Given the description of an element on the screen output the (x, y) to click on. 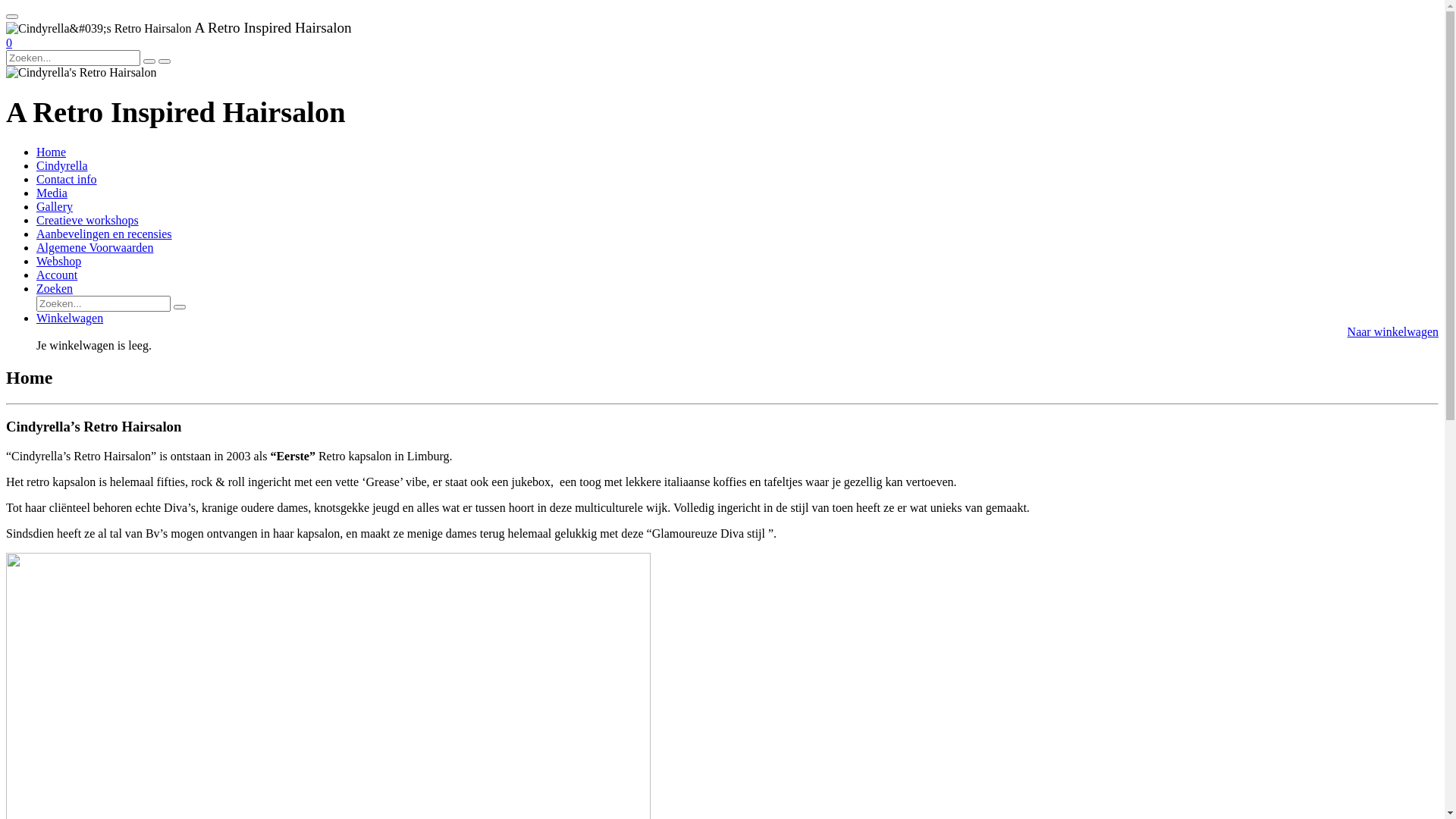
Webshop Element type: text (58, 260)
Cindyrella&#039;s Retro Hairsalon Element type: hover (98, 28)
Contact info Element type: text (66, 178)
Winkelwagen Element type: text (69, 317)
Creatieve workshops Element type: text (87, 219)
Media Element type: text (51, 192)
Zoeken Element type: text (54, 288)
Algemene Voorwaarden Element type: text (94, 247)
Cindyrella's Retro Hairsalon Element type: hover (81, 72)
Account Element type: text (56, 274)
Cindyrella Element type: text (61, 165)
Home Element type: text (50, 151)
Gallery Element type: text (54, 206)
0 Element type: text (9, 42)
Aanbevelingen en recensies Element type: text (104, 233)
Naar winkelwagen Element type: text (1392, 331)
